Given the description of an element on the screen output the (x, y) to click on. 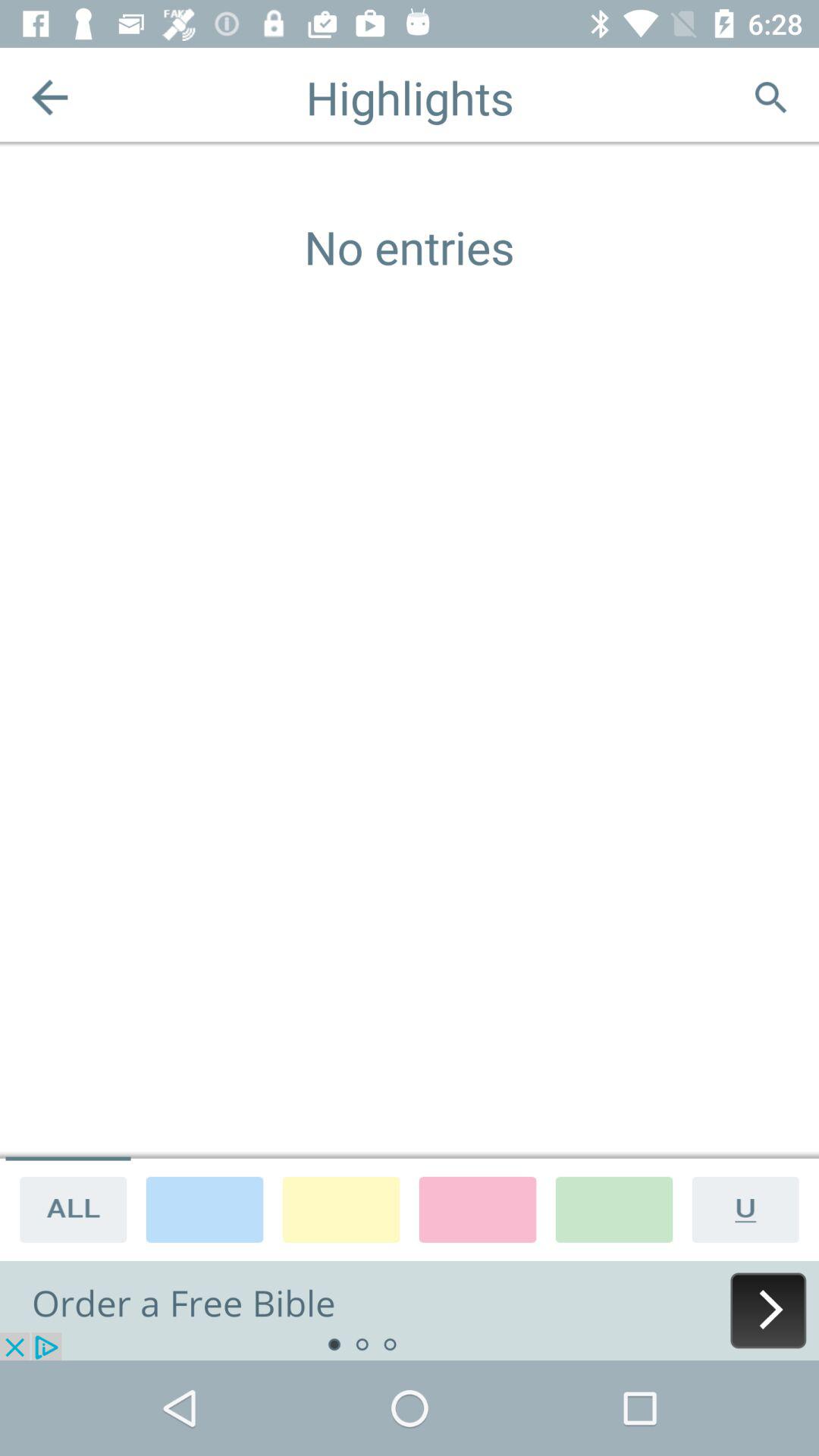
choose colour (341, 1208)
